Given the description of an element on the screen output the (x, y) to click on. 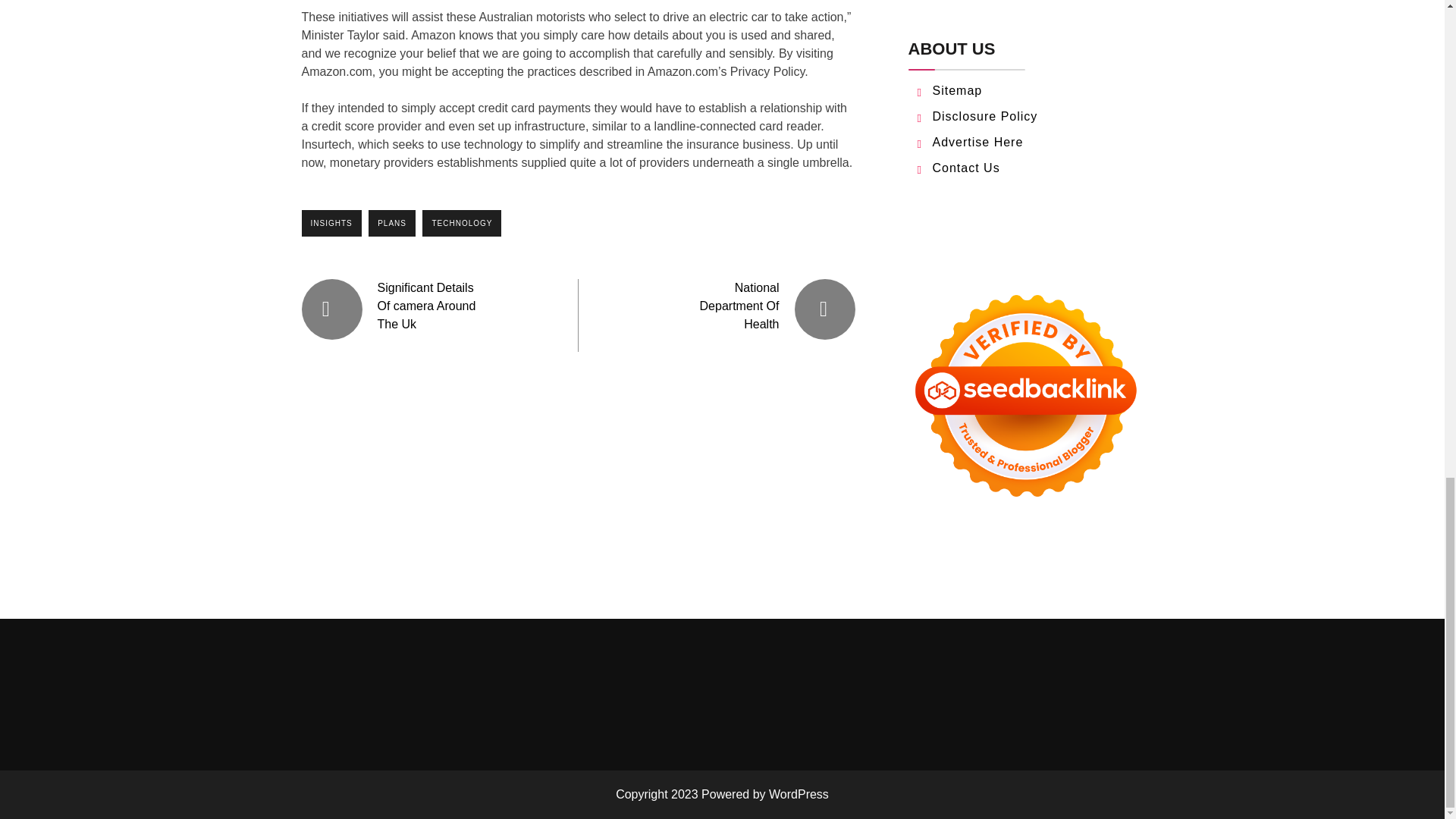
TECHNOLOGY (461, 222)
National Department Of Health (739, 305)
Seedbacklink (1025, 395)
PLANS (391, 222)
INSIGHTS (331, 222)
Significant Details Of camera Around The Uk (426, 305)
